Given the description of an element on the screen output the (x, y) to click on. 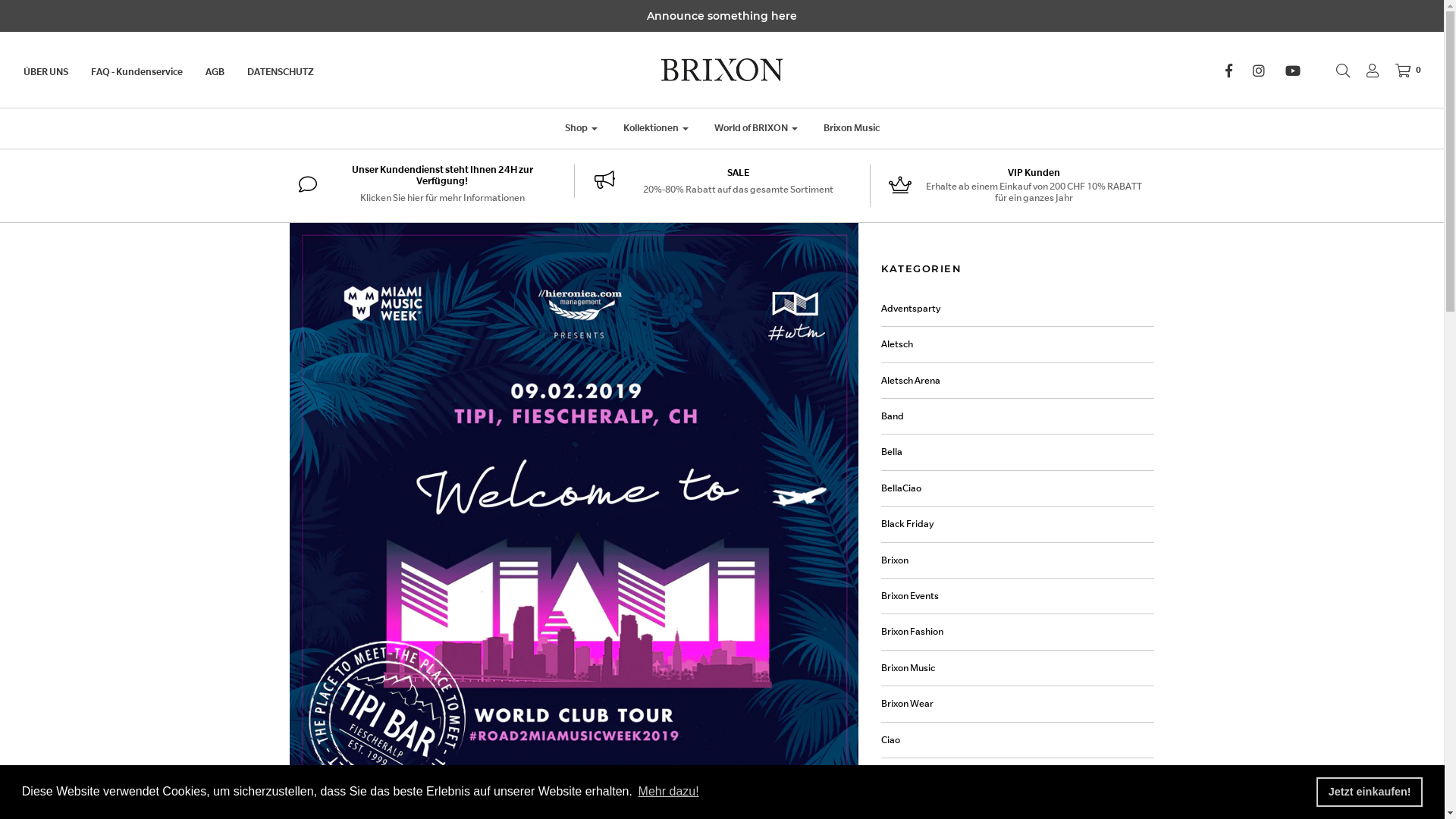
BellaCiao Element type: text (901, 488)
Bella Element type: text (891, 451)
Brixon Events Element type: text (909, 595)
Aletsch Arena Element type: text (910, 380)
DATENSCHUTZ Element type: text (291, 71)
Brixon Music Element type: text (908, 668)
Aletsch Element type: text (897, 344)
Suche Element type: hover (1335, 70)
AGB Element type: text (226, 71)
Brixon Wear Element type: text (907, 703)
Brixon Element type: text (894, 560)
Black Friday Element type: text (907, 523)
FAQ - Kundenservice Element type: text (148, 71)
Band Element type: text (892, 416)
Mehr dazu! Element type: text (667, 791)
Jetzt einkaufen! Element type: text (1369, 791)
Dj Element type: text (885, 811)
World of BRIXON Element type: text (755, 128)
Kollektionen Element type: text (655, 128)
Ciao Element type: text (890, 740)
0 Element type: text (1400, 70)
Club Element type: text (890, 775)
Brixon Fashion Element type: text (912, 631)
Shop Element type: text (580, 128)
Brixon Music Element type: text (850, 128)
Anmelden Element type: hover (1364, 70)
Adventsparty Element type: text (911, 308)
